Given the description of an element on the screen output the (x, y) to click on. 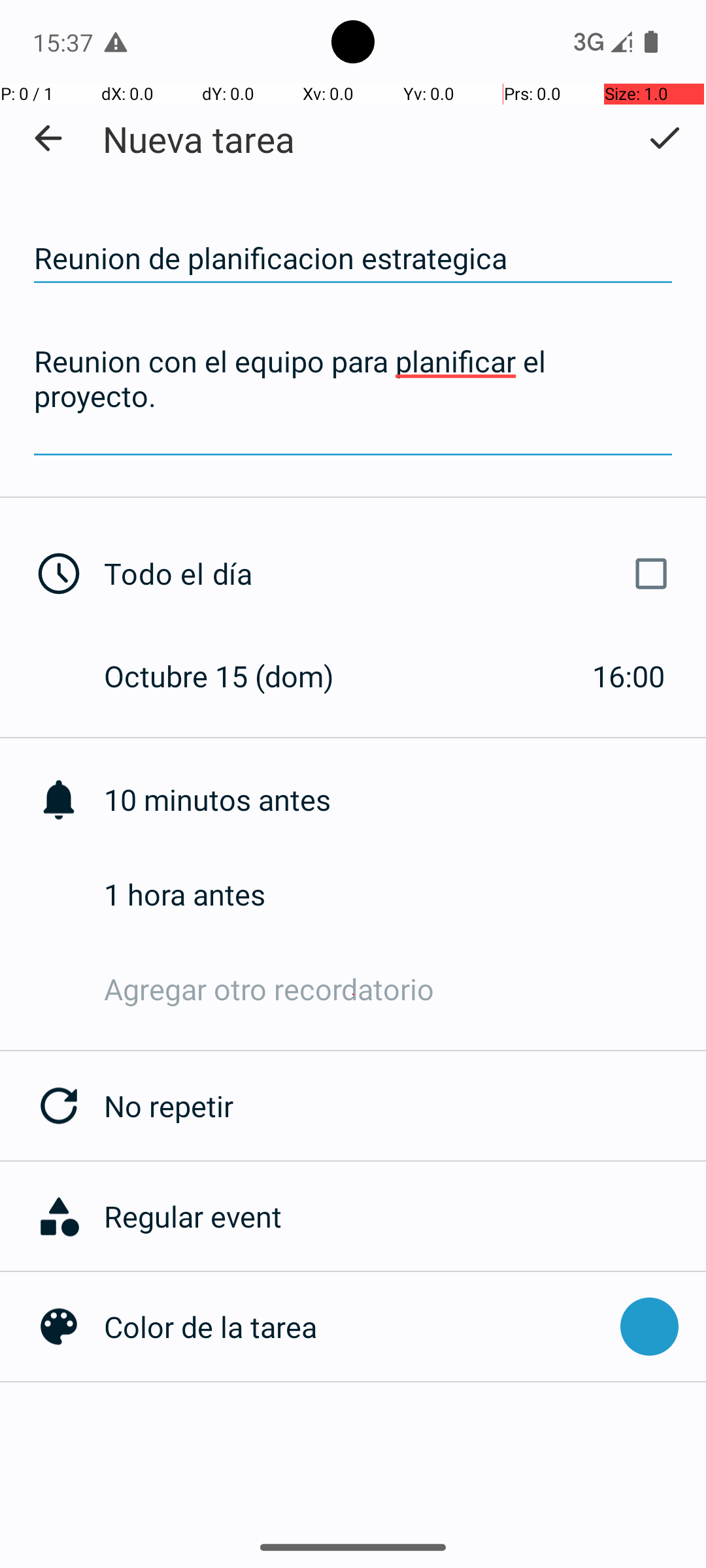
Nueva tarea Element type: android.widget.TextView (198, 138)
Guardar Element type: android.widget.Button (664, 137)
Reunion de planificacion estrategica Element type: android.widget.EditText (352, 258)
Reunion con el equipo para planificar el proyecto.
 Element type: android.widget.EditText (352, 396)
Octubre 15 (dom) Element type: android.widget.TextView (232, 675)
10 minutos antes Element type: android.widget.TextView (404, 798)
1 hora antes Element type: android.widget.TextView (404, 893)
Agregar otro recordatorio Element type: android.widget.TextView (404, 988)
No repetir Element type: android.widget.TextView (404, 1105)
Todo el día Element type: android.widget.CheckBox (390, 573)
Color de la tarea Element type: android.widget.TextView (354, 1326)
15:37 Element type: android.widget.TextView (64, 41)
